Given the description of an element on the screen output the (x, y) to click on. 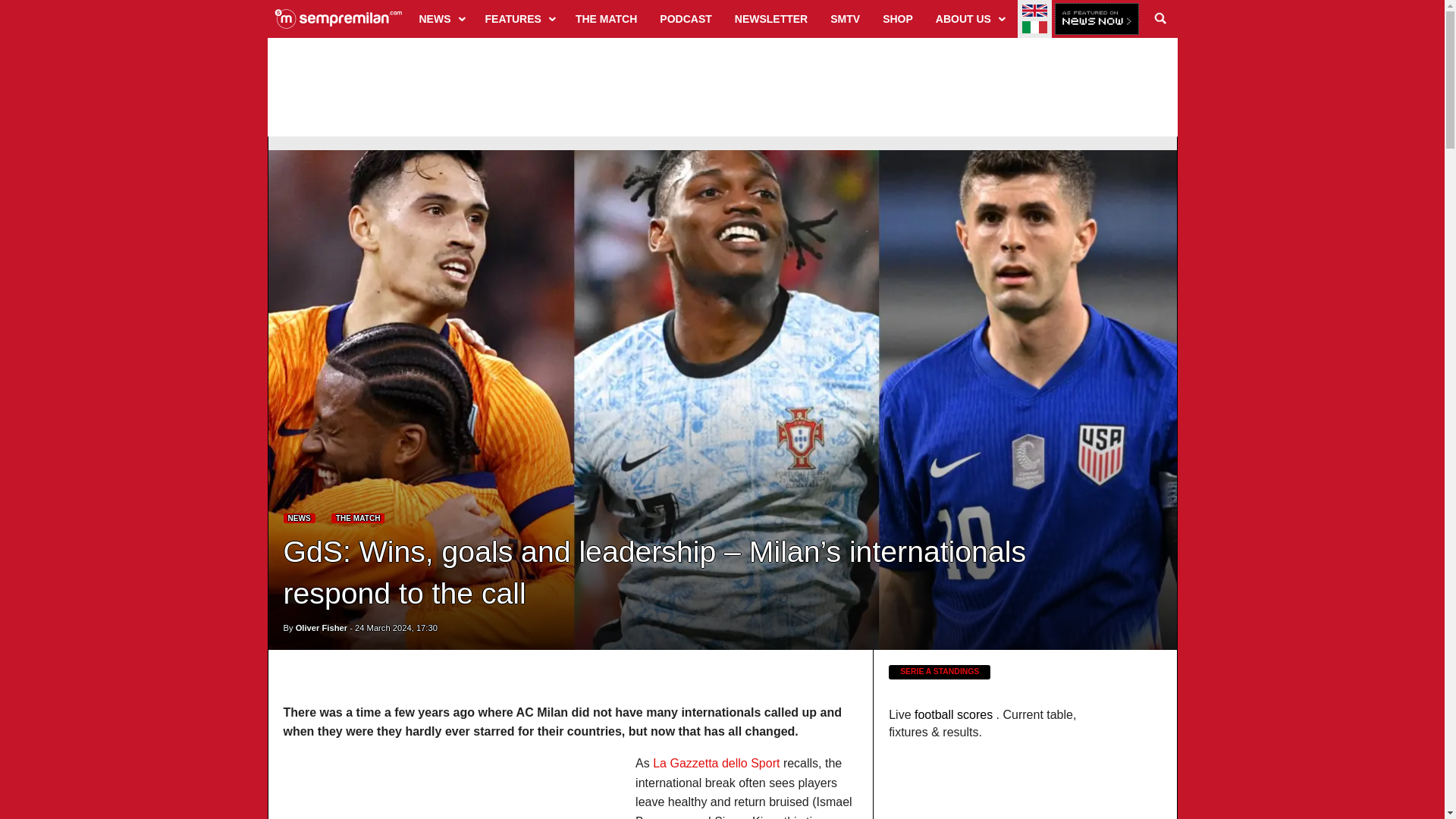
Visit our Italian language site (1034, 27)
SHOP (897, 18)
PODCAST (684, 18)
FEATURES (518, 18)
ABOUT US (968, 18)
NEWS (440, 18)
NEWSLETTER (770, 18)
Latest News News (299, 518)
THE MATCH (605, 18)
Search (1160, 18)
Click here for more AC Milan news from NewsNow (1096, 19)
HOME (338, 18)
SMTV (844, 18)
Currently viewing our English language site (1034, 10)
Latest The Match News (358, 518)
